Given the description of an element on the screen output the (x, y) to click on. 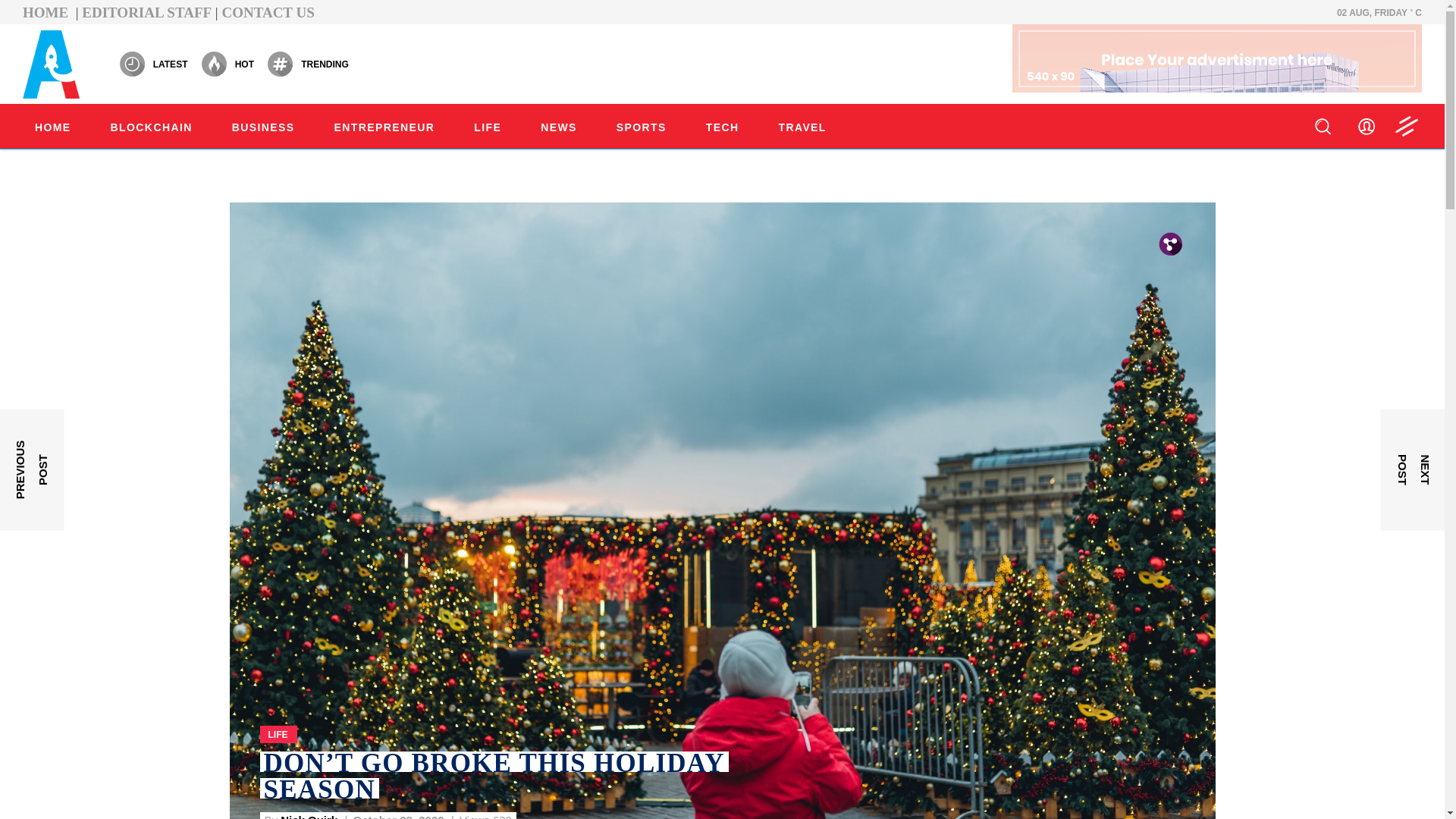
HOT (226, 63)
BUSINESS (263, 125)
TRENDING (307, 63)
HOME (52, 125)
HOME  (47, 12)
ENTREPRENEUR (383, 125)
BLOCKCHAIN (152, 125)
TECH (722, 125)
TRAVEL (801, 125)
SPORTS (641, 125)
CONTACT US (267, 12)
LATEST (153, 63)
EDITORIAL STAFF (146, 12)
NEWS (558, 125)
LIFE (487, 125)
